Given the description of an element on the screen output the (x, y) to click on. 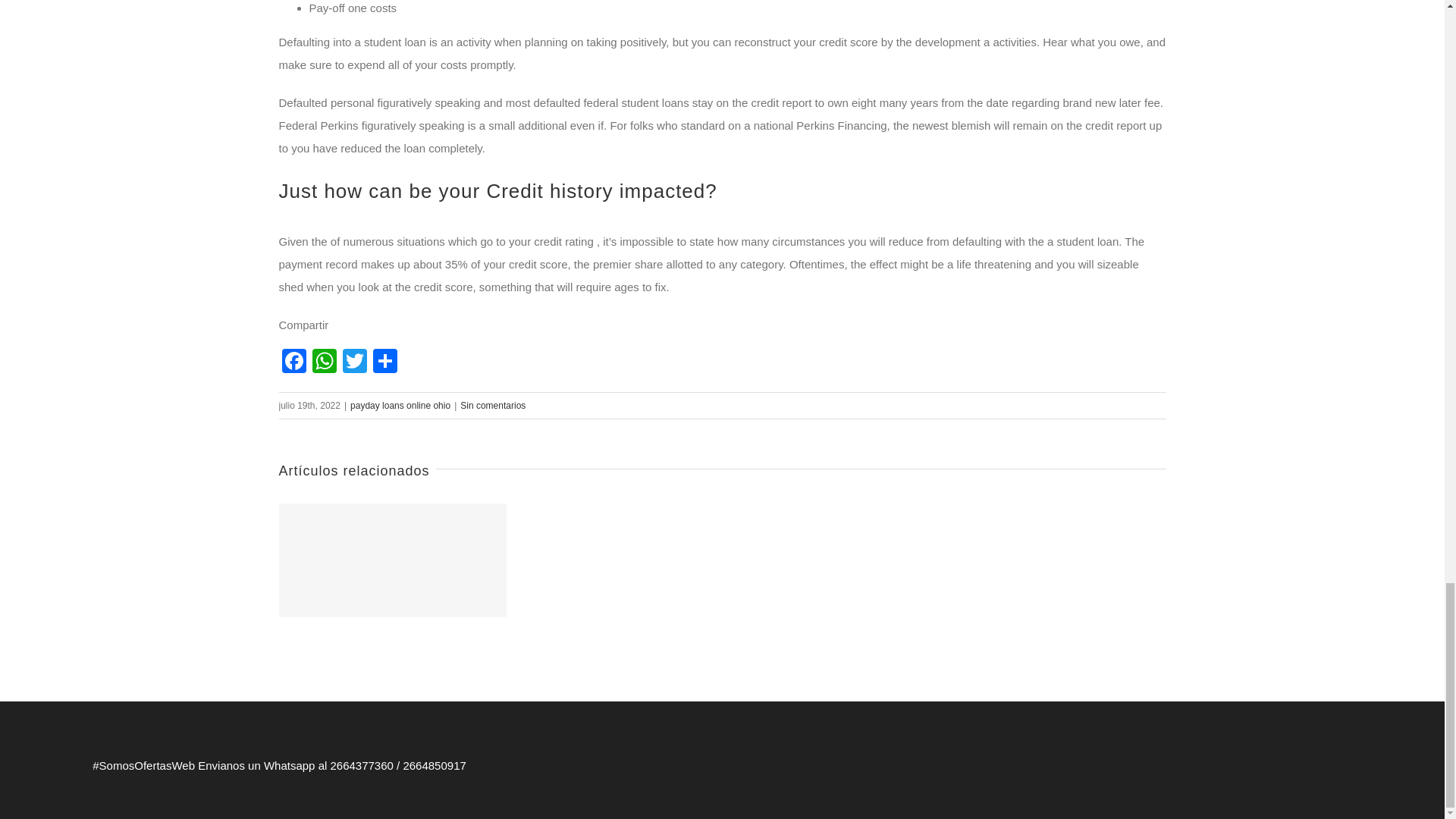
Twitter (354, 362)
Facebook (293, 362)
Twitter (354, 362)
WhatsApp (323, 362)
Compartir (384, 362)
Facebook (293, 362)
payday loans online ohio (399, 405)
Sin comentarios (492, 405)
WhatsApp (323, 362)
